Given the description of an element on the screen output the (x, y) to click on. 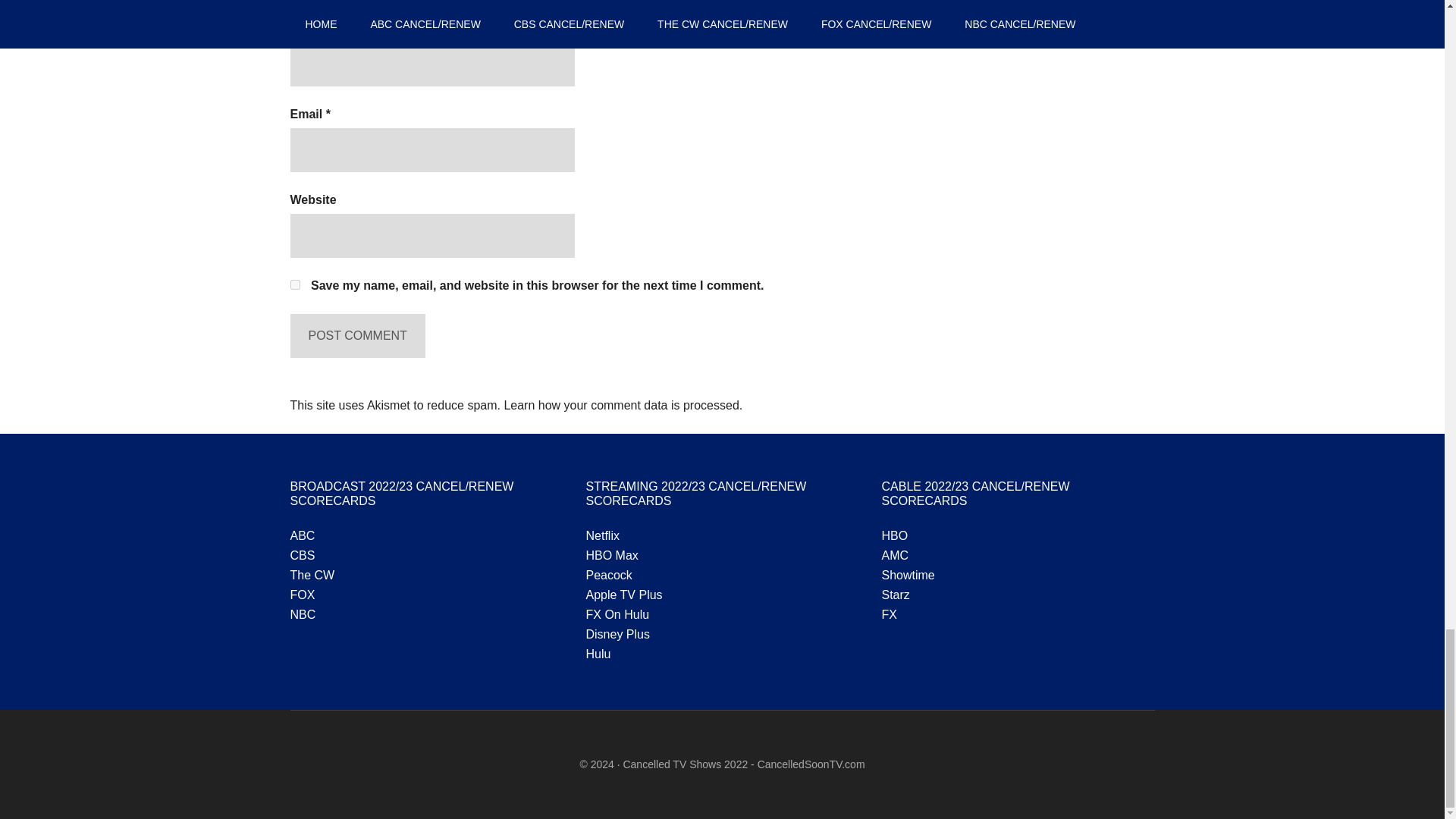
yes (294, 284)
Post Comment (357, 335)
Learn how your comment data is processed (620, 404)
Post Comment (357, 335)
